Given the description of an element on the screen output the (x, y) to click on. 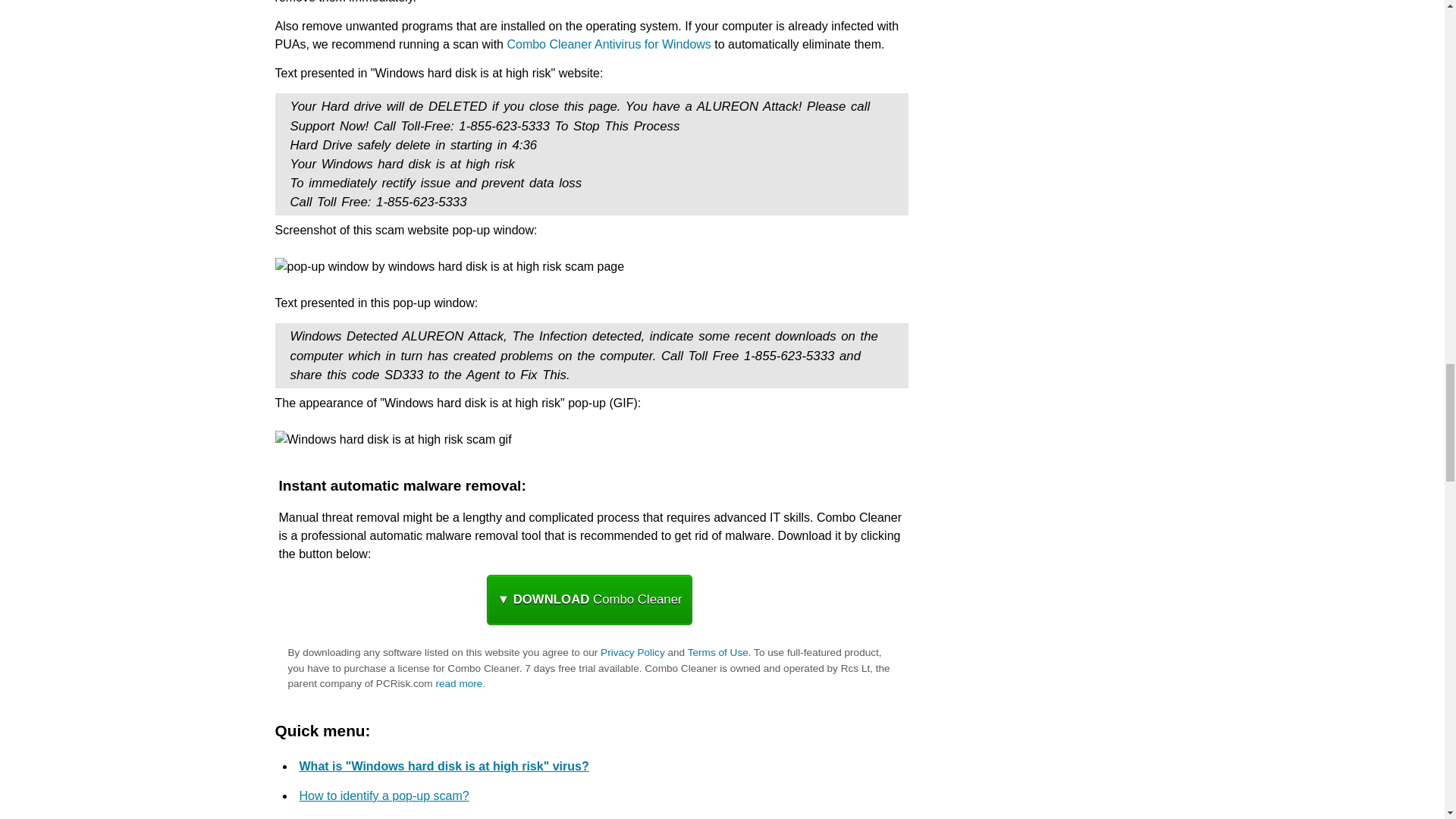
Privacy Policy (632, 652)
Terms of Use (717, 652)
How to identify a pop-up scam? (383, 795)
Combo Cleaner Antivirus for Windows (608, 43)
Read more about us (458, 683)
What is "Windows hard disk is at high risk" virus? (443, 766)
read more (458, 683)
